Given the description of an element on the screen output the (x, y) to click on. 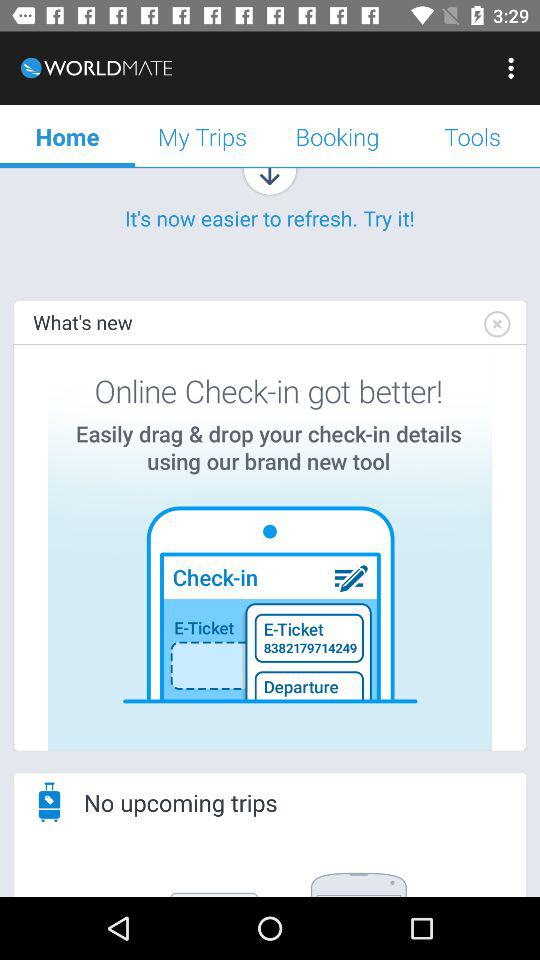
close window (496, 323)
